Given the description of an element on the screen output the (x, y) to click on. 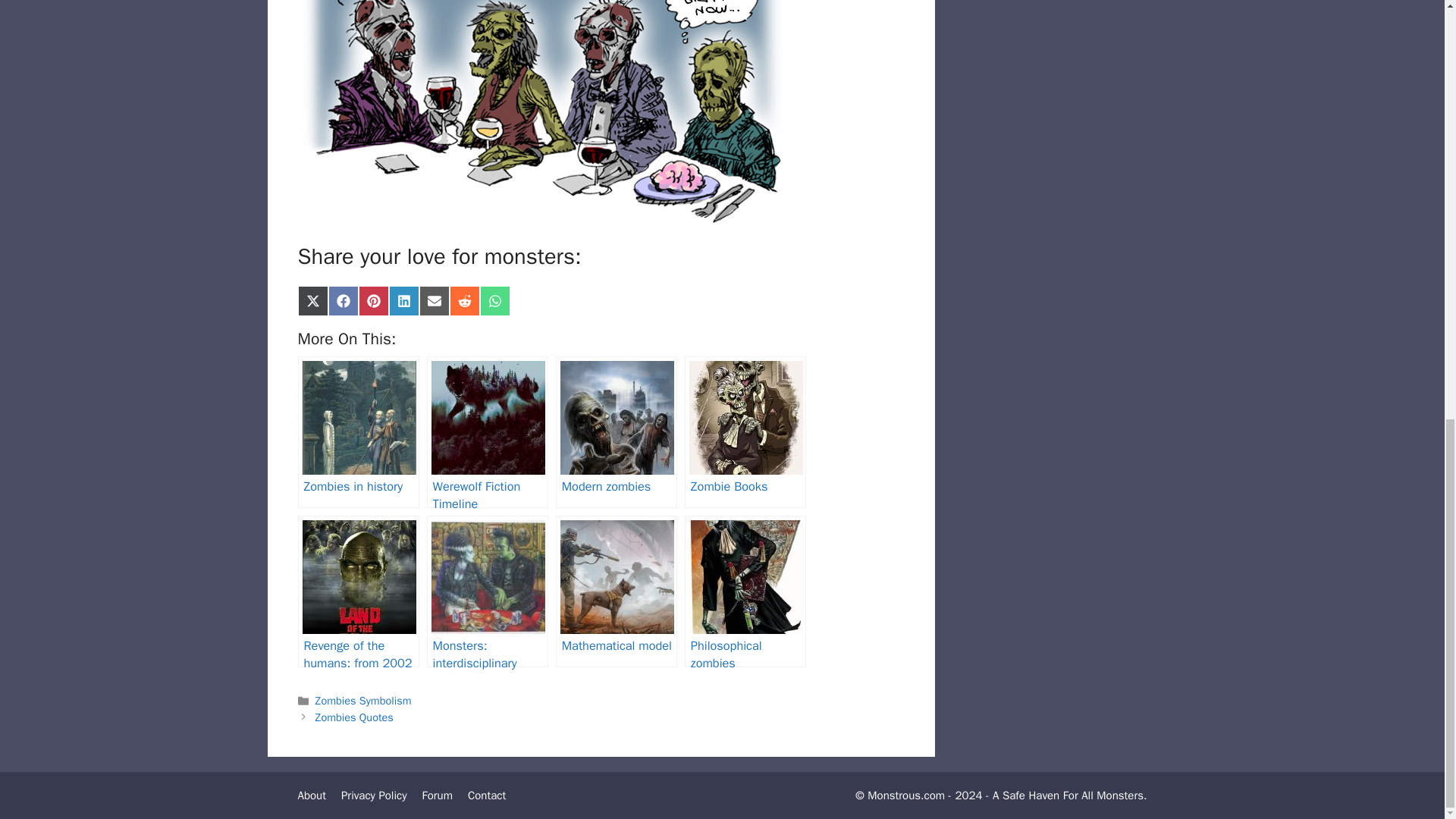
Share on Reddit (463, 300)
Monsters: interdisciplinary explorations in monstrosity (487, 591)
Advertisement (1062, 131)
Philosophical zombies (745, 591)
Revenge of the humans: from 2002 (358, 591)
Zombies in history (358, 431)
Share on Facebook (342, 300)
Share on Email (433, 300)
Share on WhatsApp (494, 300)
Zombie Books (745, 431)
Modern zombies (616, 431)
Share on Pinterest (373, 300)
Mathematical model (616, 591)
Share on LinkedIn (403, 300)
Werewolf Fiction Timeline (487, 431)
